Given the description of an element on the screen output the (x, y) to click on. 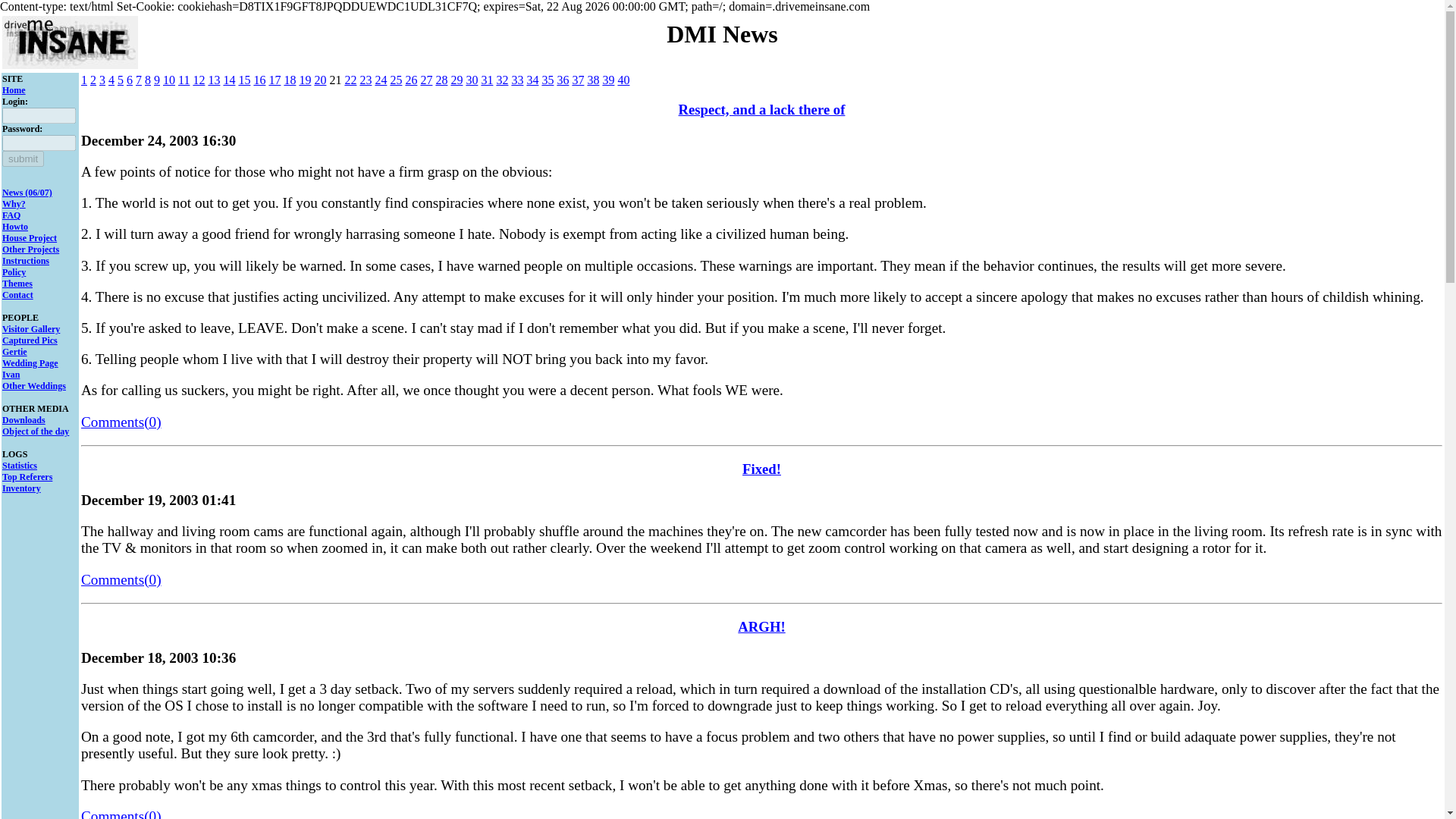
Object of the day (35, 430)
Statistics (19, 465)
Ivan (11, 374)
10 (168, 79)
15 (244, 79)
Top Referers (27, 476)
12 (198, 79)
Gertie (14, 351)
Instructions (25, 260)
FAQ (11, 214)
